Given the description of an element on the screen output the (x, y) to click on. 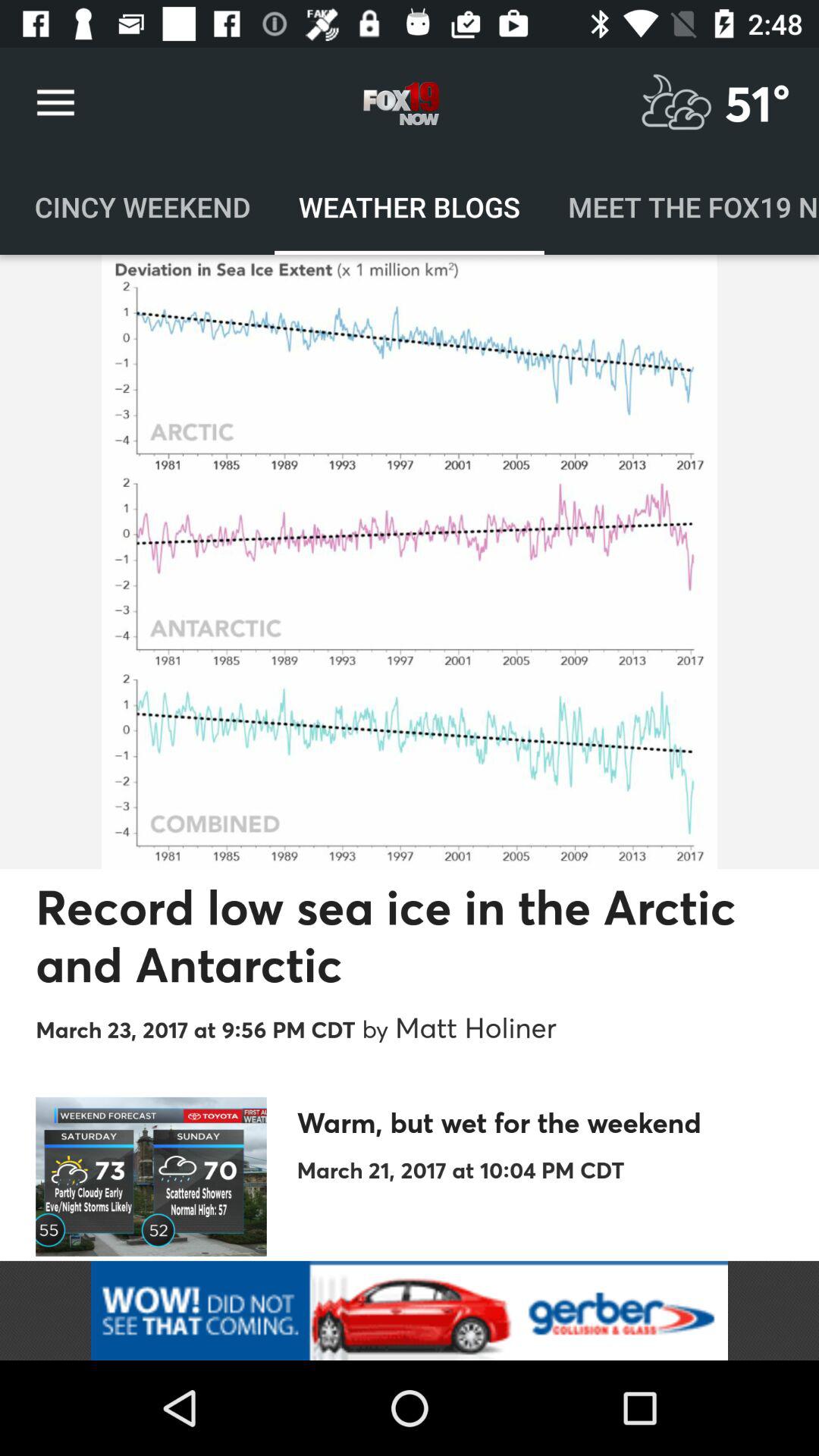
adverdisement area (409, 1310)
